Given the description of an element on the screen output the (x, y) to click on. 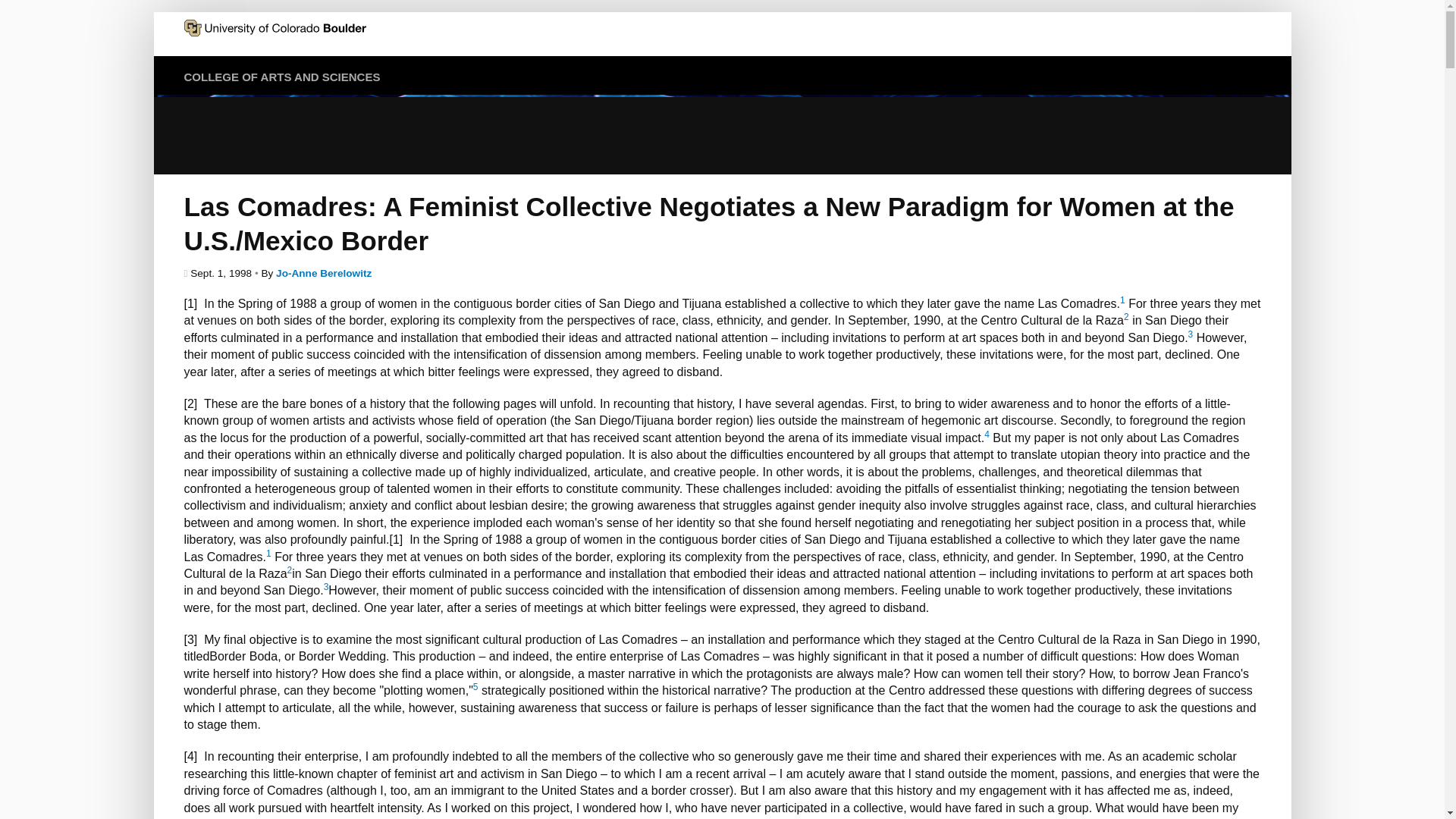
Jo-Anne Berelowitz (323, 273)
Genders banner (721, 133)
COLLEGE OF ARTS AND SCIENCES (281, 76)
